Given the description of an element on the screen output the (x, y) to click on. 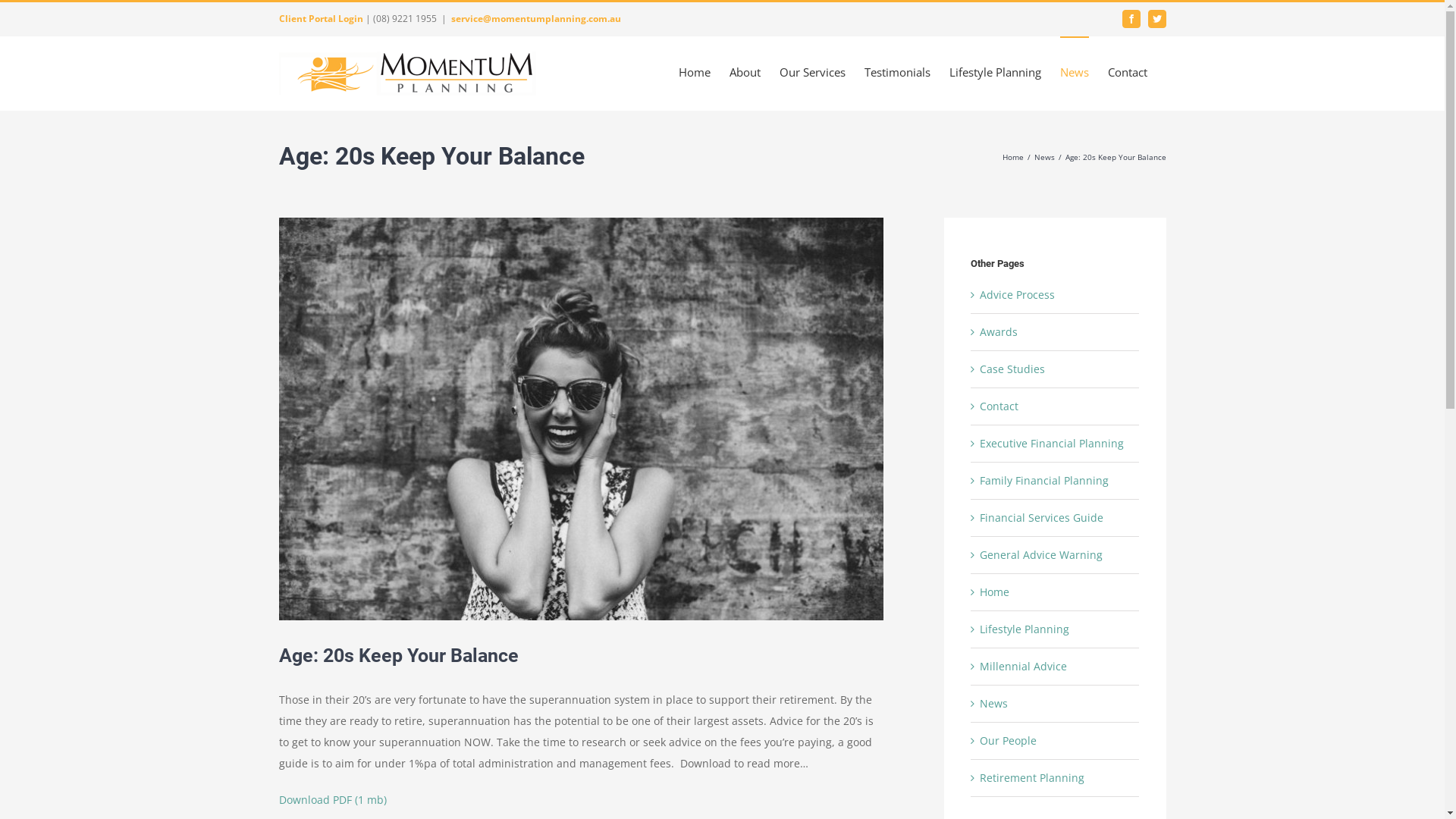
View Larger Image Element type: text (581, 418)
Testimonials Element type: text (897, 71)
Home Element type: text (693, 71)
Contact Element type: text (998, 405)
Facebook Element type: text (1131, 18)
News Element type: text (993, 703)
General Advice Warning Element type: text (1040, 554)
Twitter Element type: text (1157, 18)
News Element type: text (1074, 71)
service@momentumplanning.com.au Element type: text (535, 18)
Case Studies Element type: text (1011, 368)
Our People Element type: text (1007, 740)
Awards Element type: text (998, 331)
Millennial Advice Element type: text (1022, 665)
Client Portal Login Element type: text (321, 18)
Home Element type: text (1012, 156)
Retirement Planning Element type: text (1031, 777)
Download PDF (1 mb) Element type: text (332, 799)
Lifestyle Planning Element type: text (1024, 628)
Home Element type: text (994, 591)
Lifestyle Planning Element type: text (995, 71)
Financial Services Guide Element type: text (1041, 517)
Contact Element type: text (1126, 71)
Family Financial Planning Element type: text (1043, 480)
News Element type: text (1044, 156)
Advice Process Element type: text (1016, 294)
About Element type: text (744, 71)
Executive Financial Planning Element type: text (1051, 443)
Our Services Element type: text (812, 71)
